Given the description of an element on the screen output the (x, y) to click on. 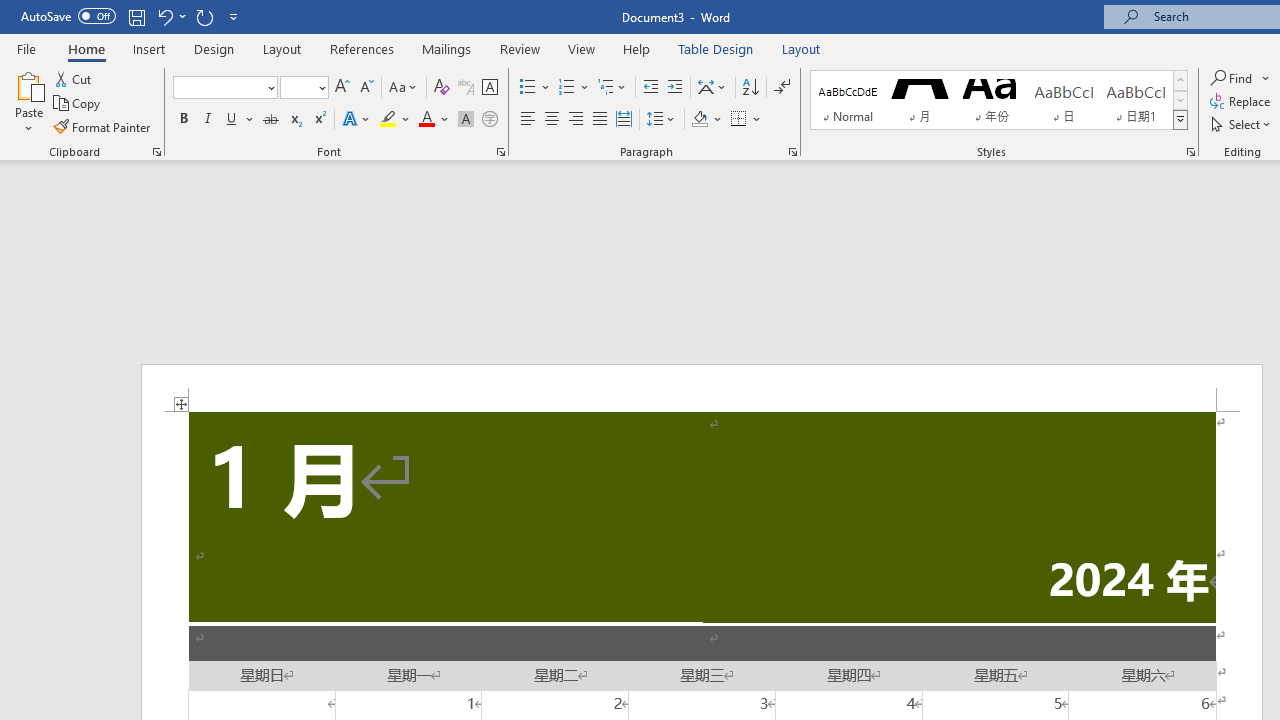
Styles (1179, 120)
Justify (599, 119)
